Given the description of an element on the screen output the (x, y) to click on. 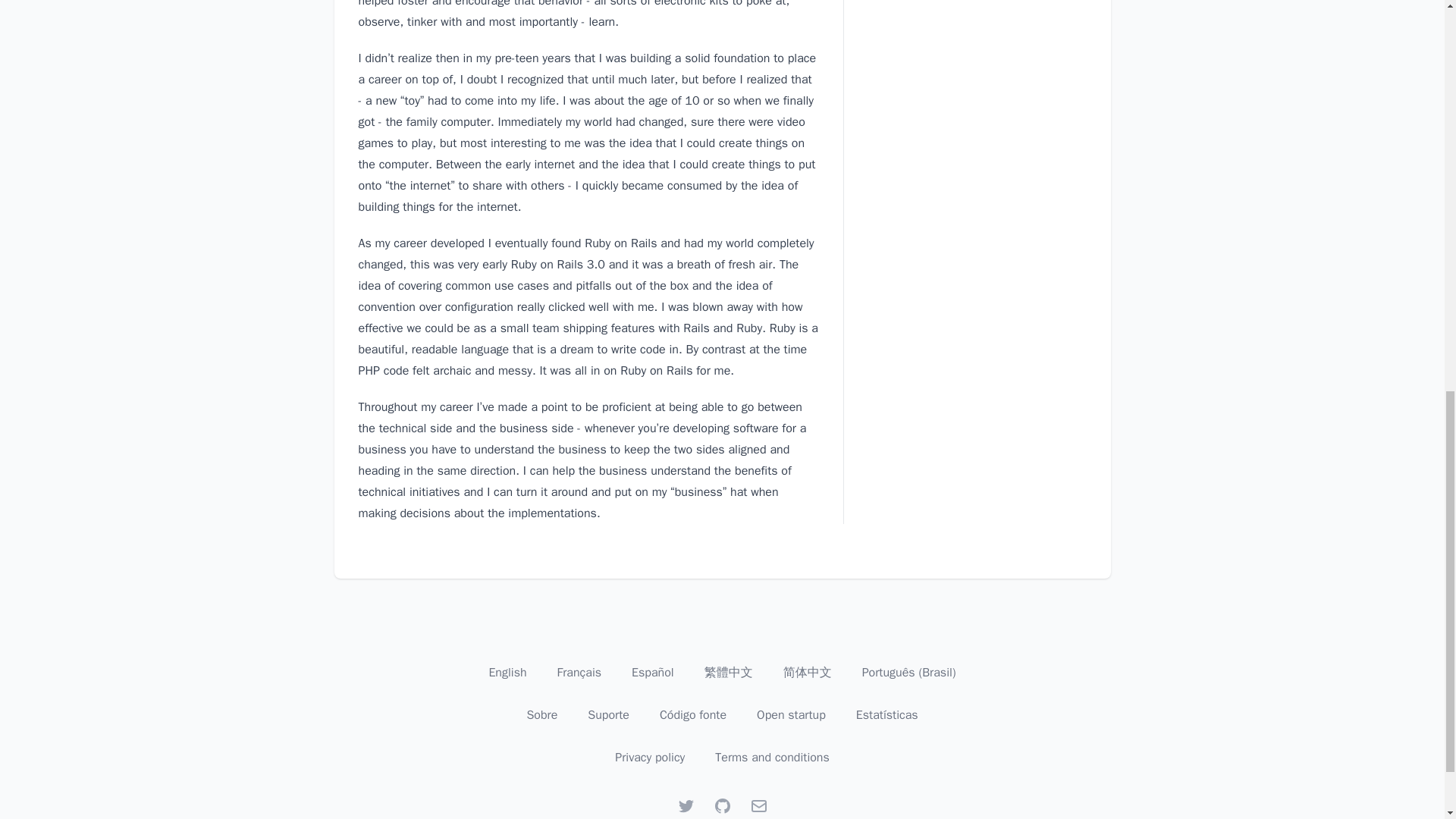
Open startup (791, 714)
GitHub (721, 805)
Twitter (685, 805)
English (506, 672)
GitHub logo (721, 805)
Privacy policy (649, 757)
Suporte (608, 714)
Twitter logo (685, 805)
Sobre (541, 714)
E-mail (758, 805)
